Given the description of an element on the screen output the (x, y) to click on. 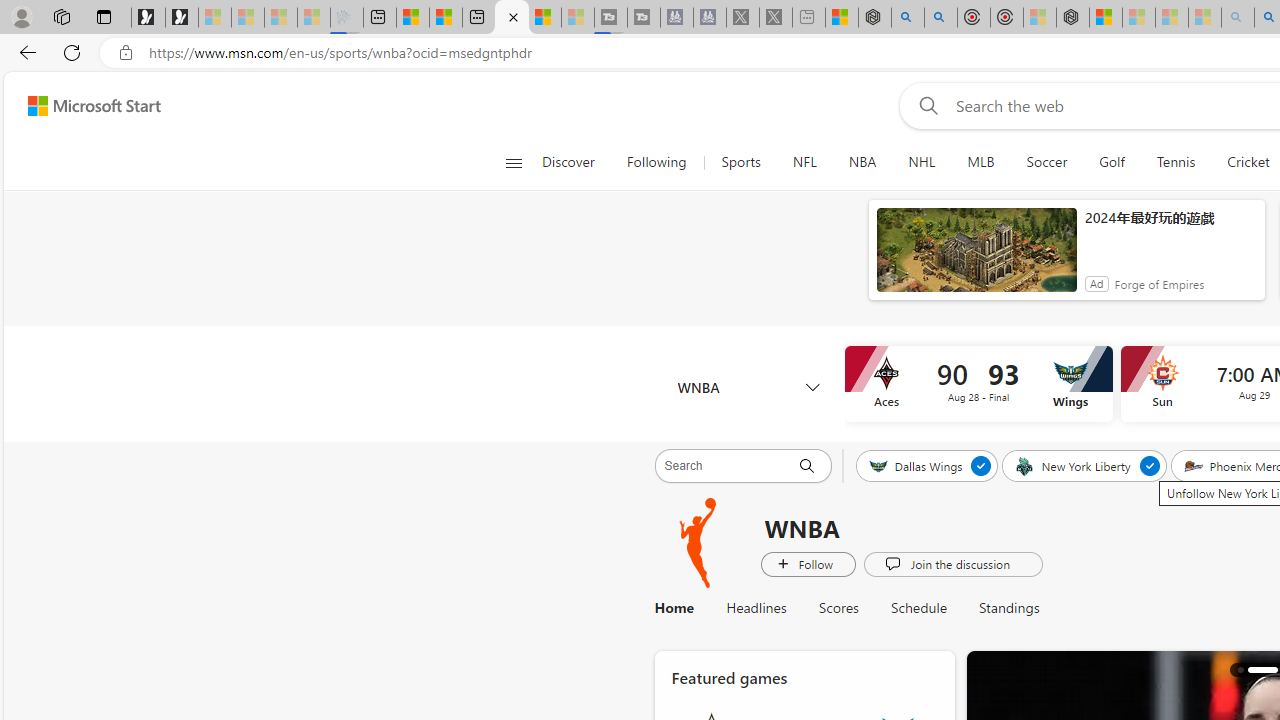
poe - Search (908, 17)
Nordace - Nordace Siena Is Not An Ordinary Backpack (1073, 17)
Web search (924, 105)
Soccer (1046, 162)
Forge of Empires (1158, 283)
MLB (981, 162)
Unfollow Dallas Wings (981, 465)
Newsletter Sign Up (182, 17)
Standings (1009, 607)
Class: button-glyph (513, 162)
